Given the description of an element on the screen output the (x, y) to click on. 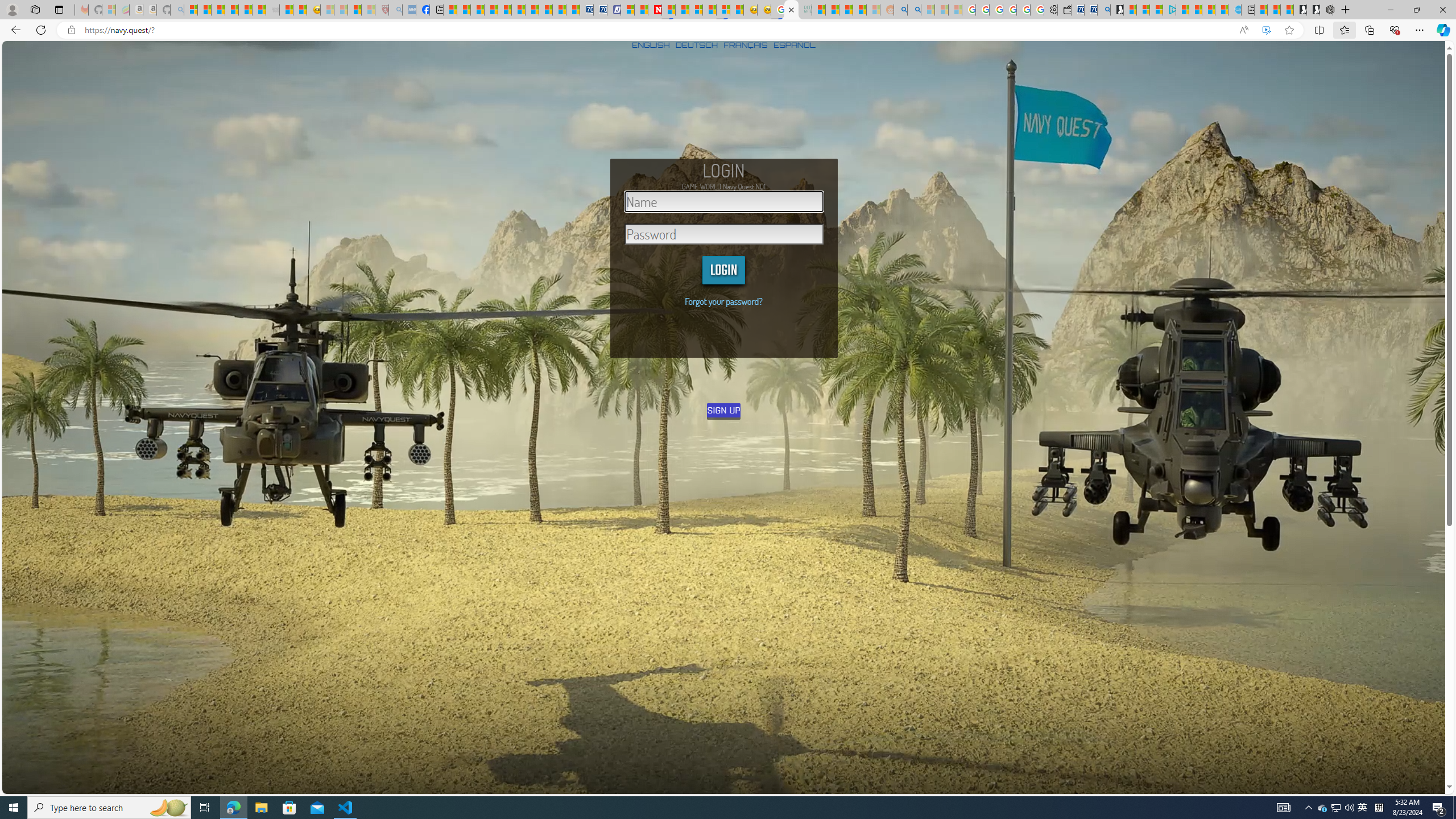
Combat Siege - Sleeping (271, 9)
Bing Real Estate - Home sales and rental listings (1103, 9)
14 Common Myths Debunked By Scientific Facts (682, 9)
Forgot your password? (723, 301)
Home | Sky Blue Bikes - Sky Blue Bikes (1234, 9)
The Weather Channel - MSN (218, 9)
LOGIN (723, 269)
